Given the description of an element on the screen output the (x, y) to click on. 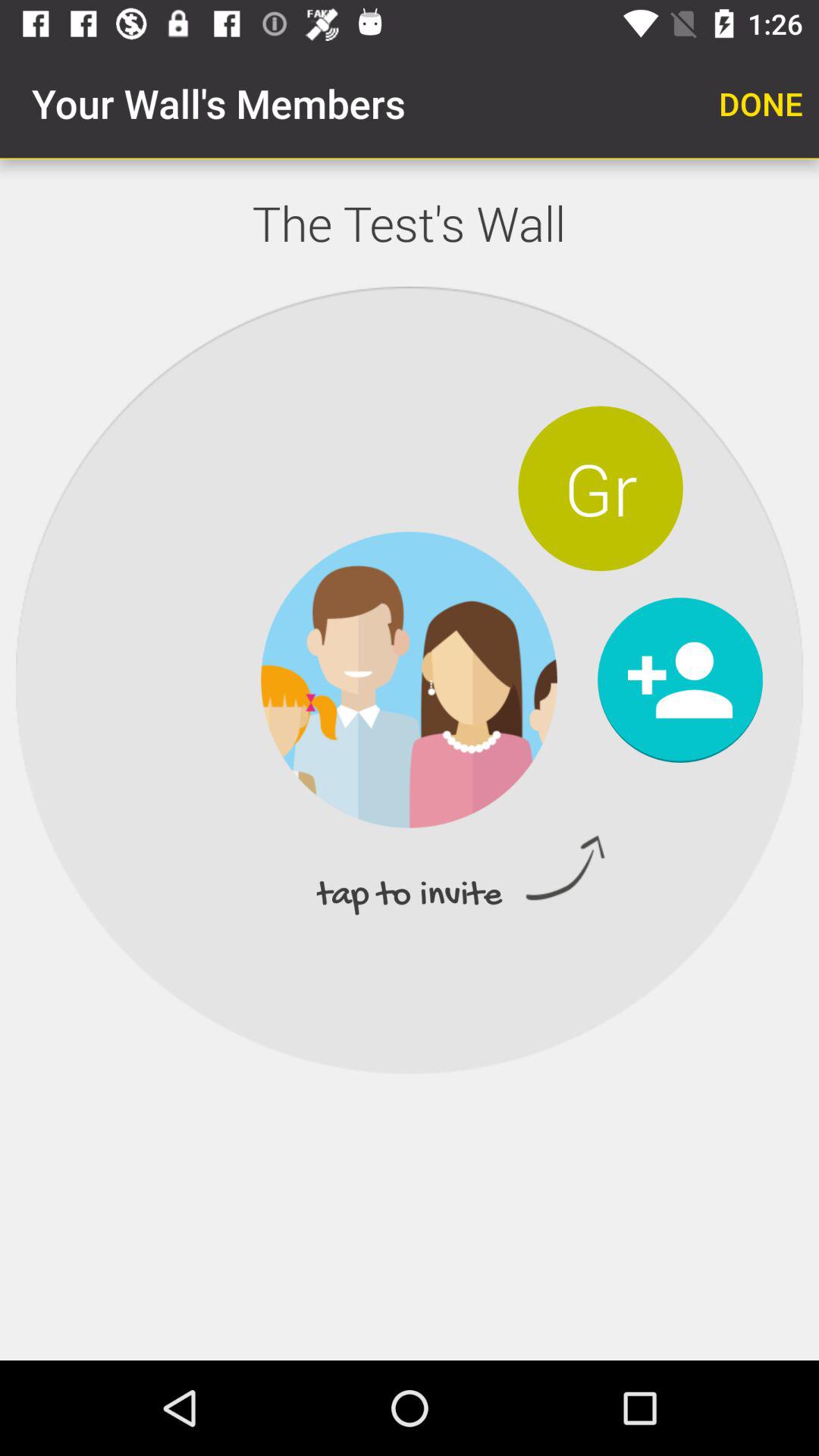
add family member (679, 679)
